Given the description of an element on the screen output the (x, y) to click on. 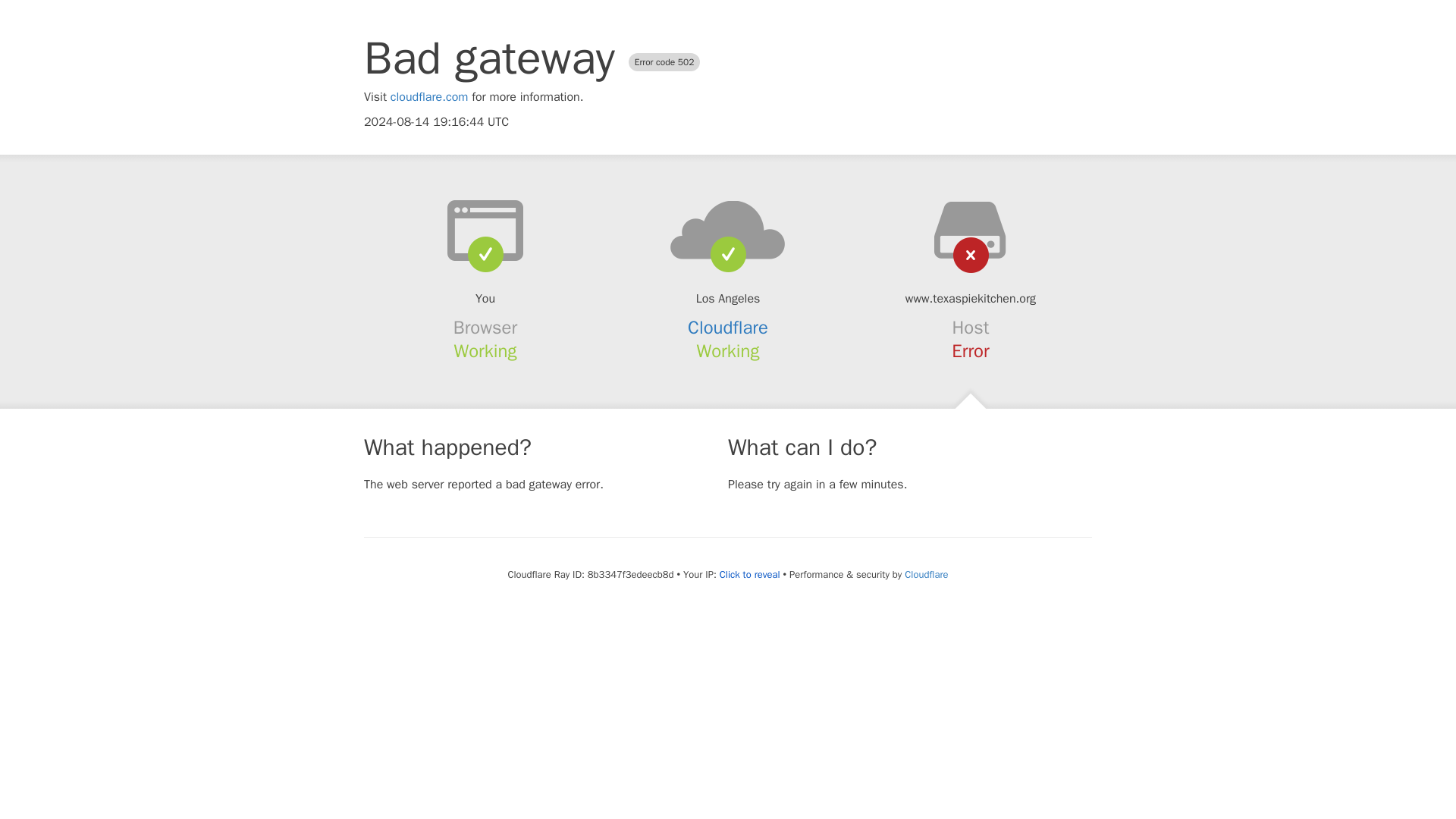
cloudflare.com (429, 96)
Click to reveal (749, 574)
Cloudflare (727, 327)
Cloudflare (925, 574)
